Given the description of an element on the screen output the (x, y) to click on. 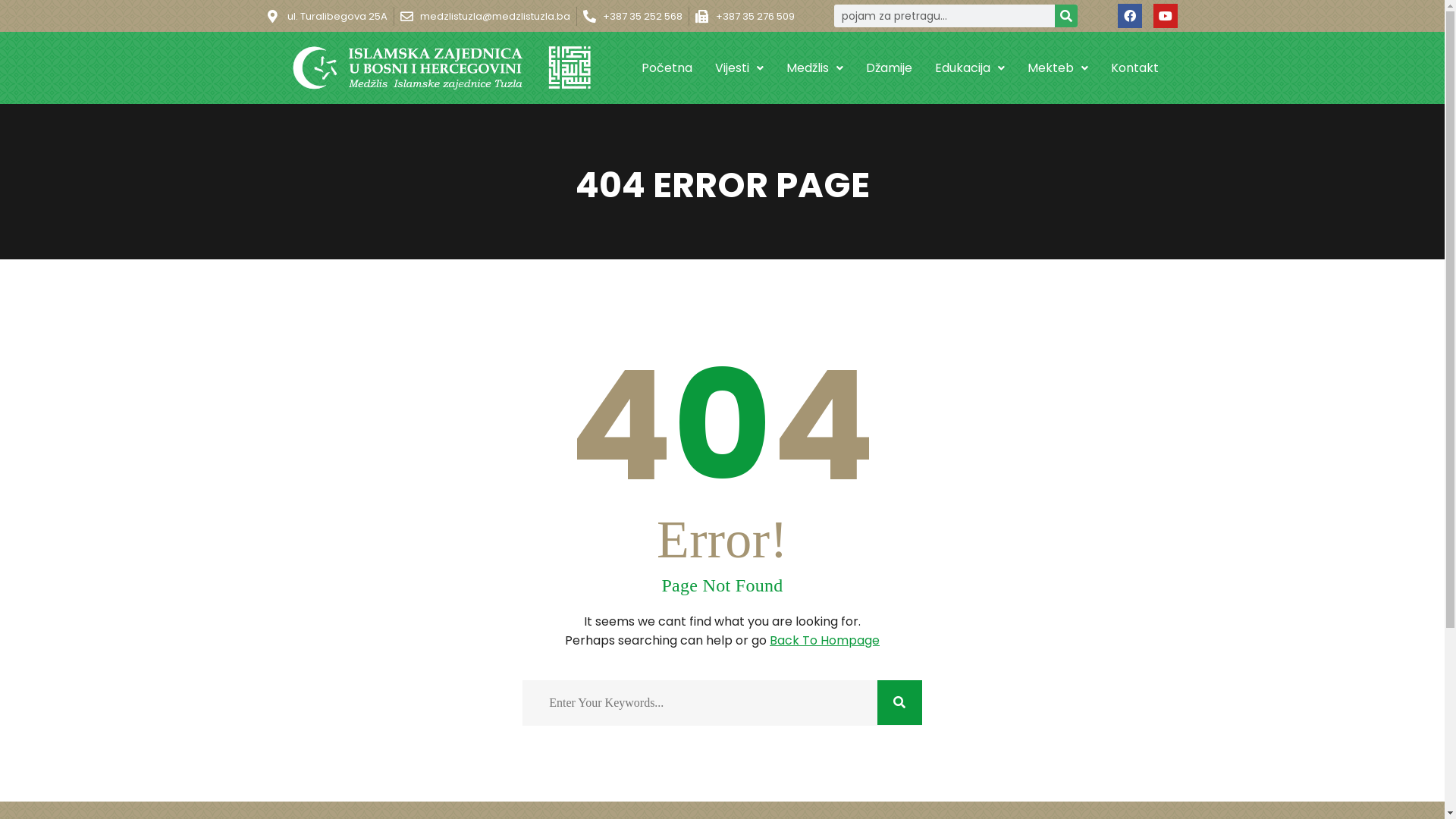
Edukacija Element type: text (969, 67)
Kontakt Element type: text (1134, 67)
Vijesti Element type: text (739, 67)
Mekteb Element type: text (1057, 67)
Back To Hompage Element type: text (824, 640)
